Given the description of an element on the screen output the (x, y) to click on. 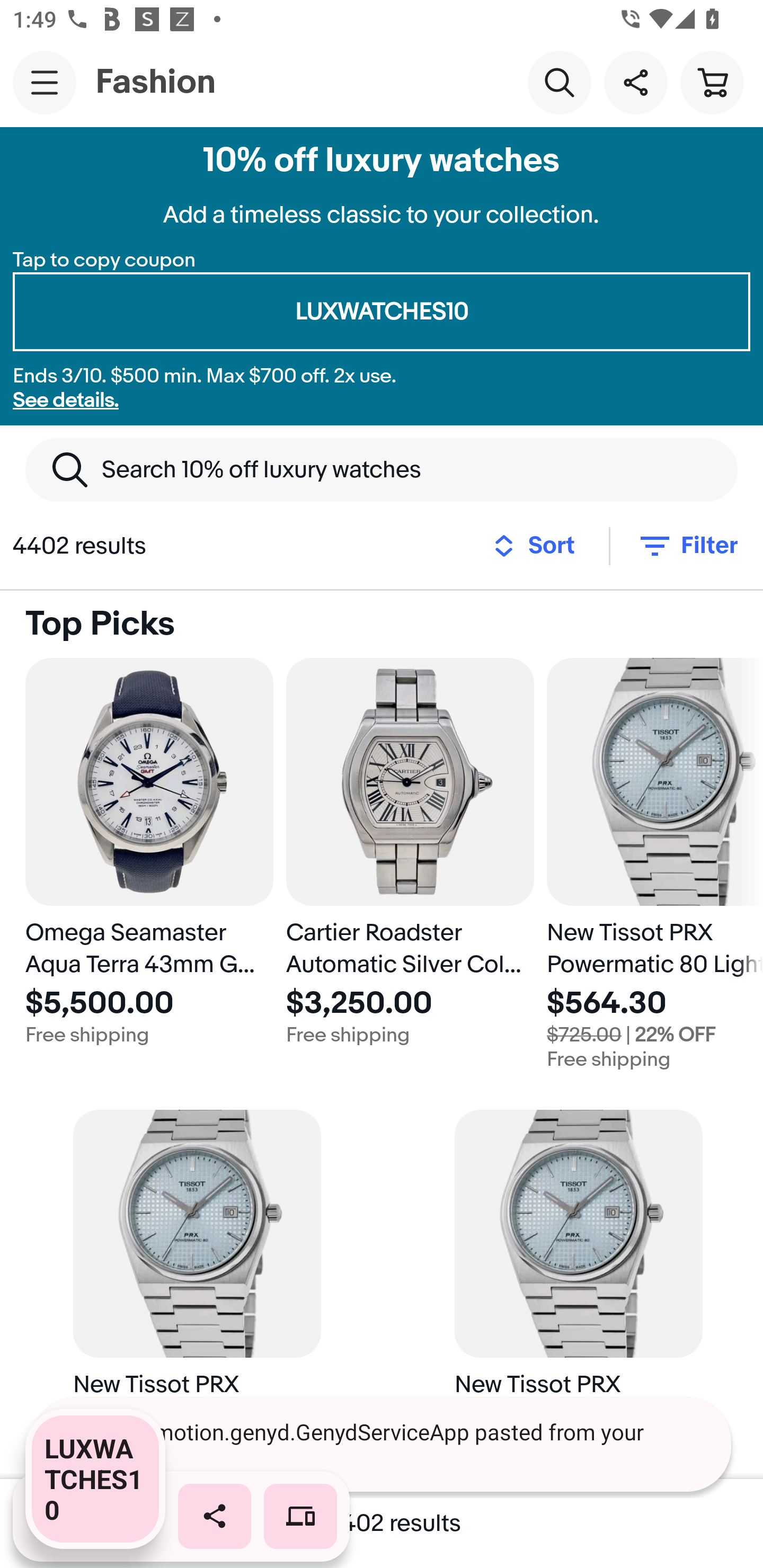
Main navigation, open (44, 82)
Search (559, 81)
Share this page (635, 81)
Cart button shopping cart (711, 81)
LUXWATCHES10 (381, 311)
See details. (65, 400)
Search 10% off luxury watches (381, 469)
Sort (538, 546)
Filter (686, 546)
